Given the description of an element on the screen output the (x, y) to click on. 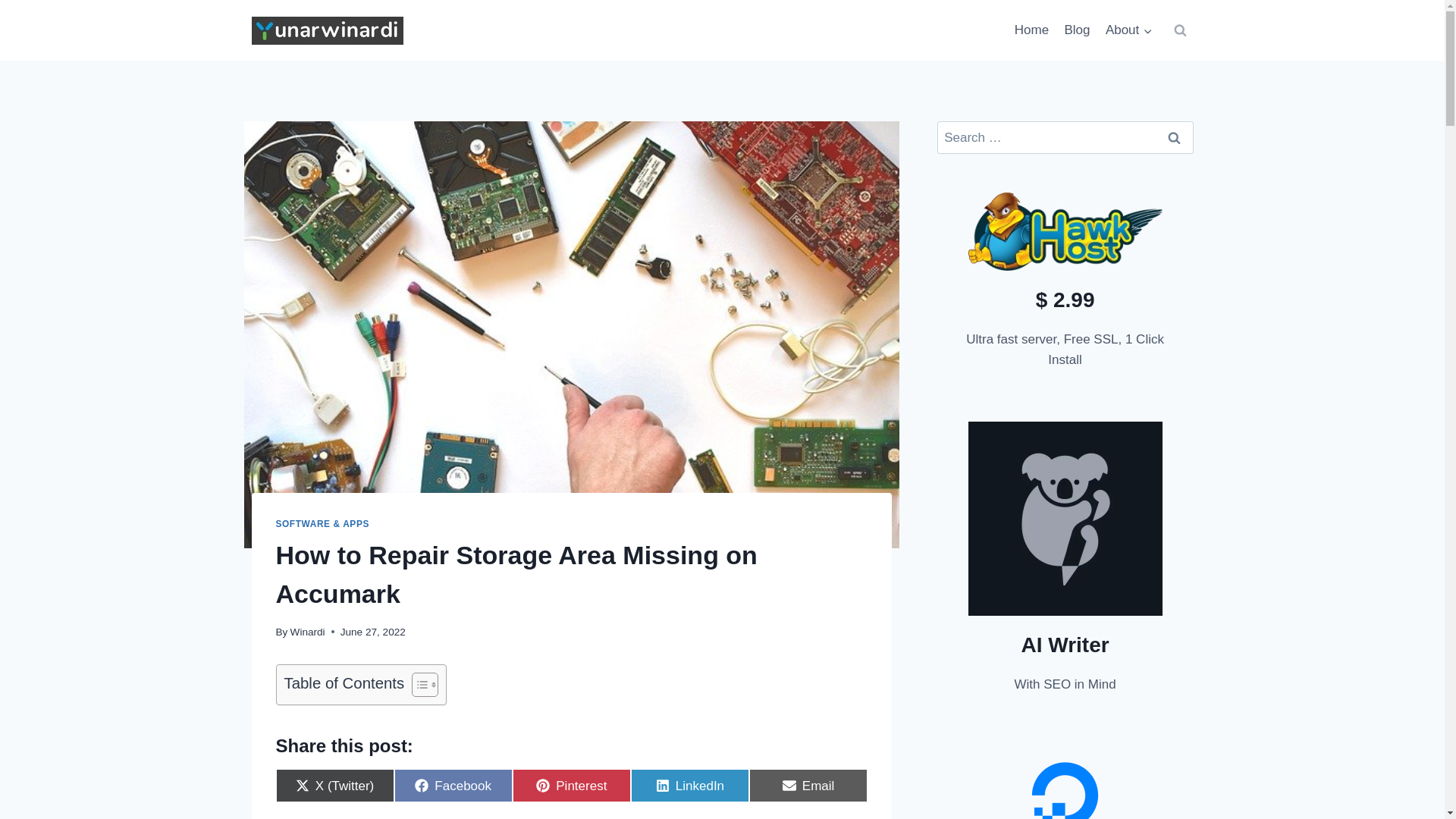
About (808, 785)
Blog (453, 785)
Winardi (1128, 30)
Home (1077, 30)
Search (306, 632)
Search (1032, 30)
How to Repair Storage Area Missing on Accumark 1 (1174, 137)
